Given the description of an element on the screen output the (x, y) to click on. 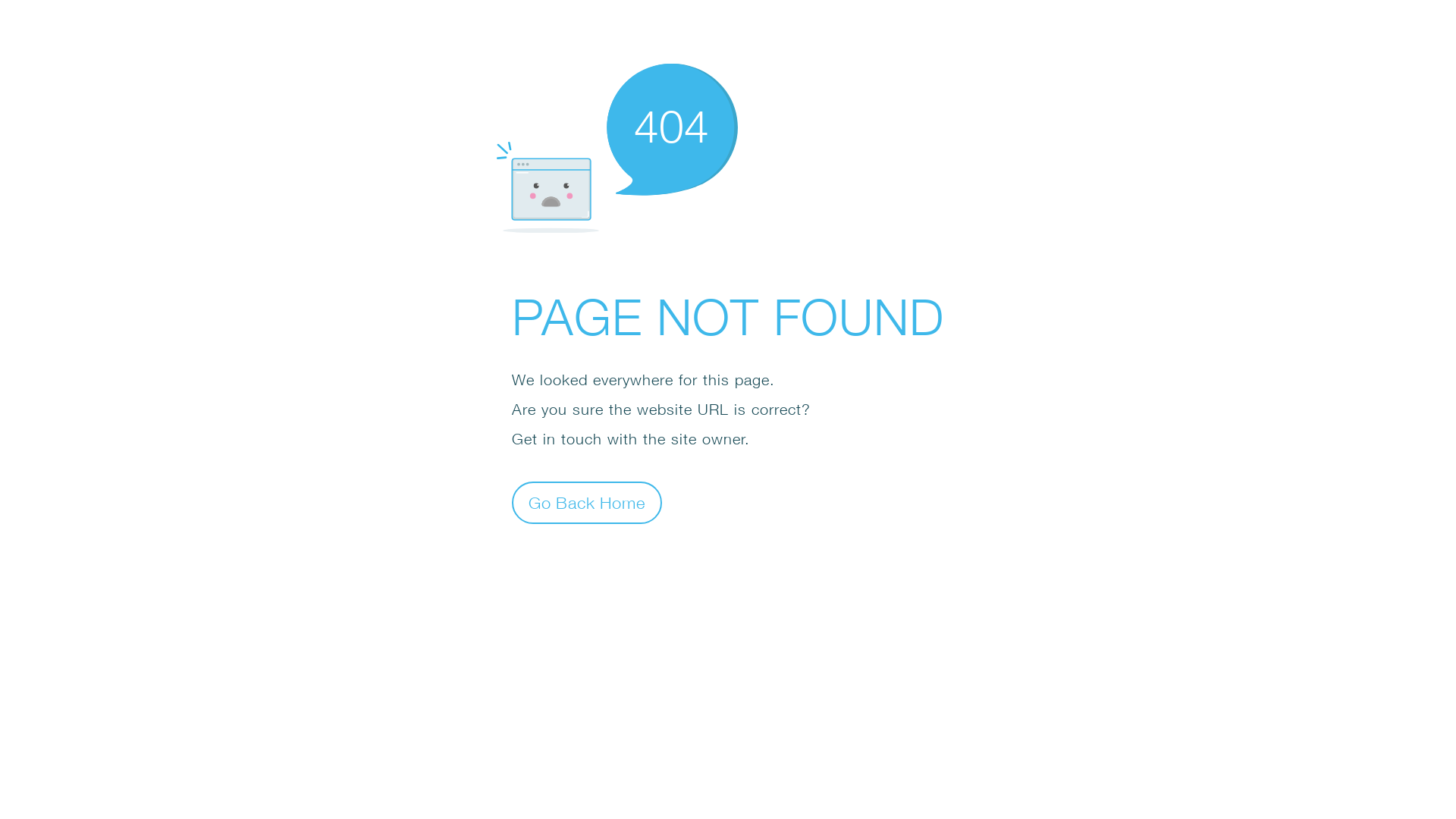
Go Back Home Element type: text (586, 502)
